Given the description of an element on the screen output the (x, y) to click on. 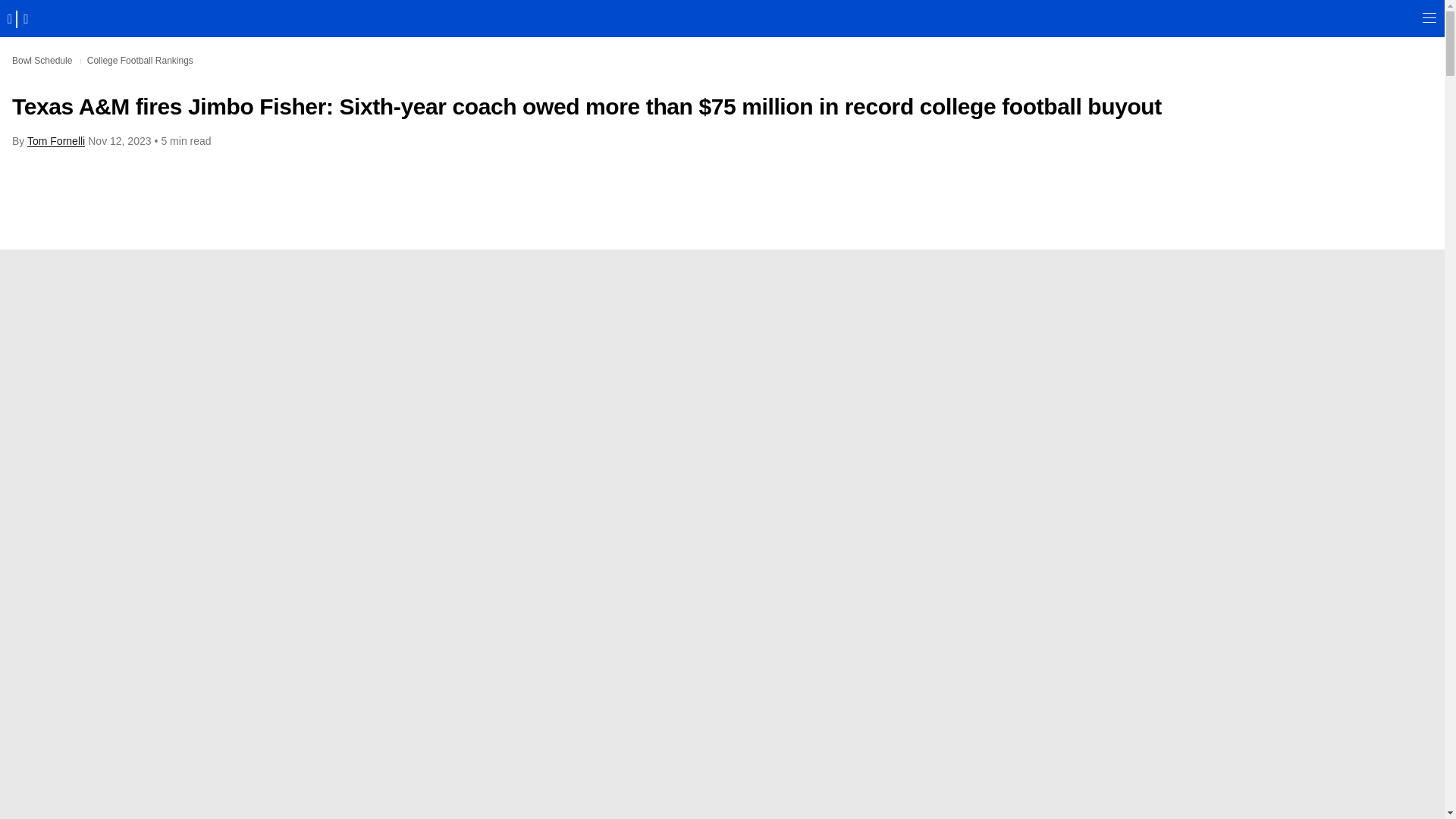
College Football Rankings (140, 60)
Tom Fornelli (55, 141)
Bowl Schedule (41, 60)
